Given the description of an element on the screen output the (x, y) to click on. 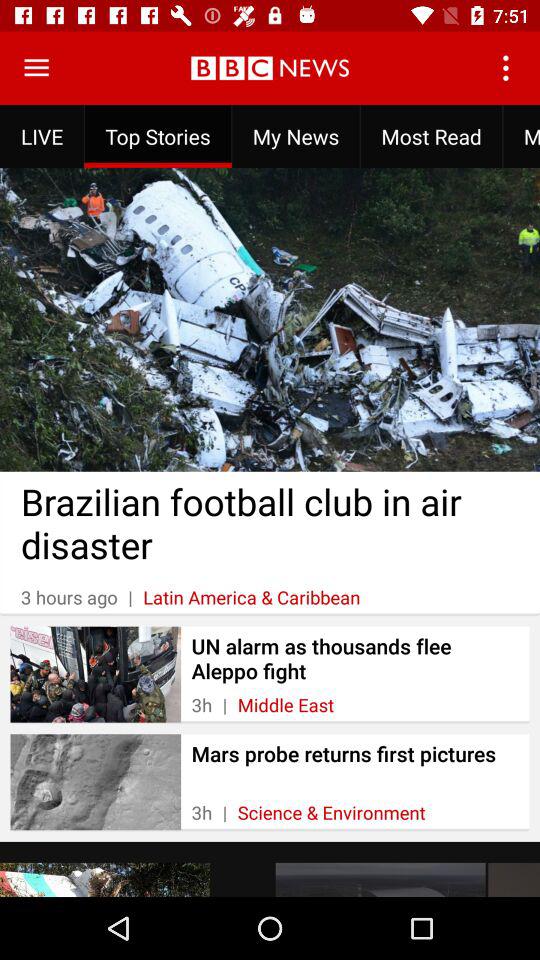
choose the icon next to the | item (331, 812)
